Given the description of an element on the screen output the (x, y) to click on. 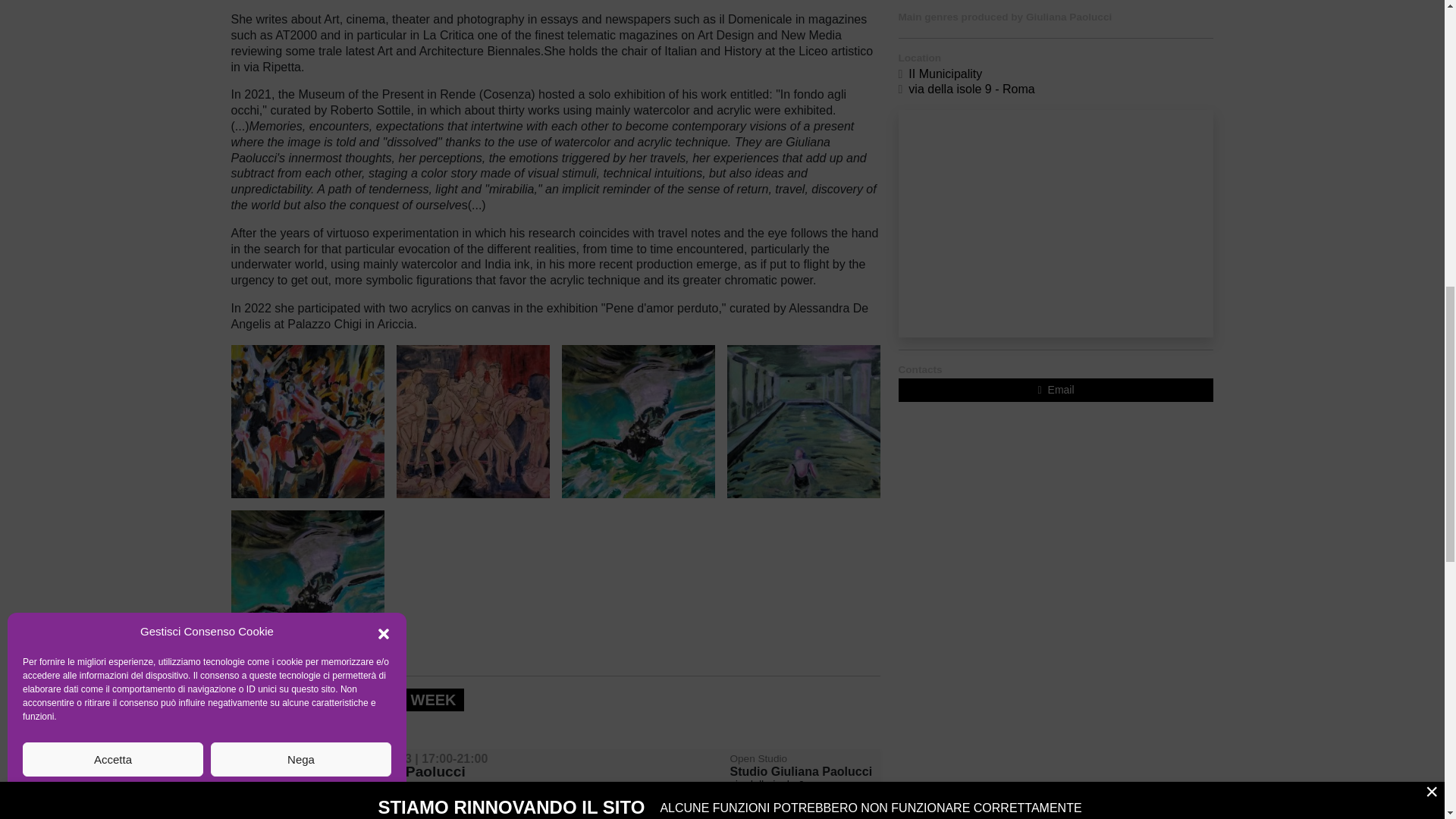
AUVAXY (802, 420)
AUVAXY (307, 585)
AUVAXY (472, 420)
AUVAXY (307, 420)
AUVAXY (637, 420)
